Given the description of an element on the screen output the (x, y) to click on. 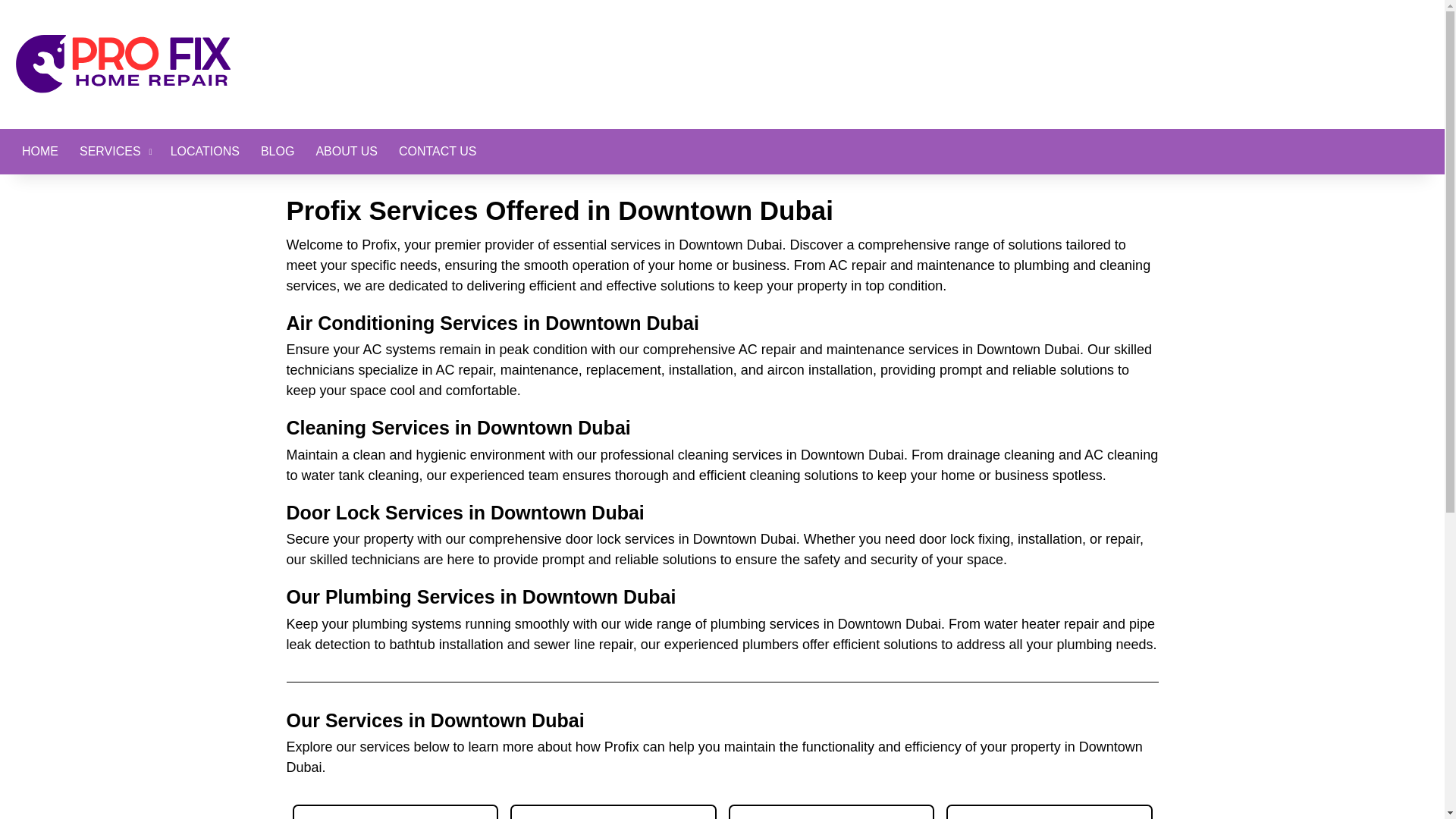
Cleaning Services in Downtown Dubai (458, 427)
Plumbing Services (395, 812)
HOME (39, 151)
Air Conditioning Services in Downtown Dubai (492, 322)
Door Lock Services (1049, 812)
Cleaning Services (831, 812)
Air Conditioning Services (613, 812)
LOCATIONS (205, 151)
ABOUT US (346, 151)
BLOG (277, 151)
CONTACT US (437, 151)
Our Plumbing Services in Downtown Dubai (481, 596)
Door Lock Services in Downtown Dubai (465, 512)
SERVICES (114, 151)
